Given the description of an element on the screen output the (x, y) to click on. 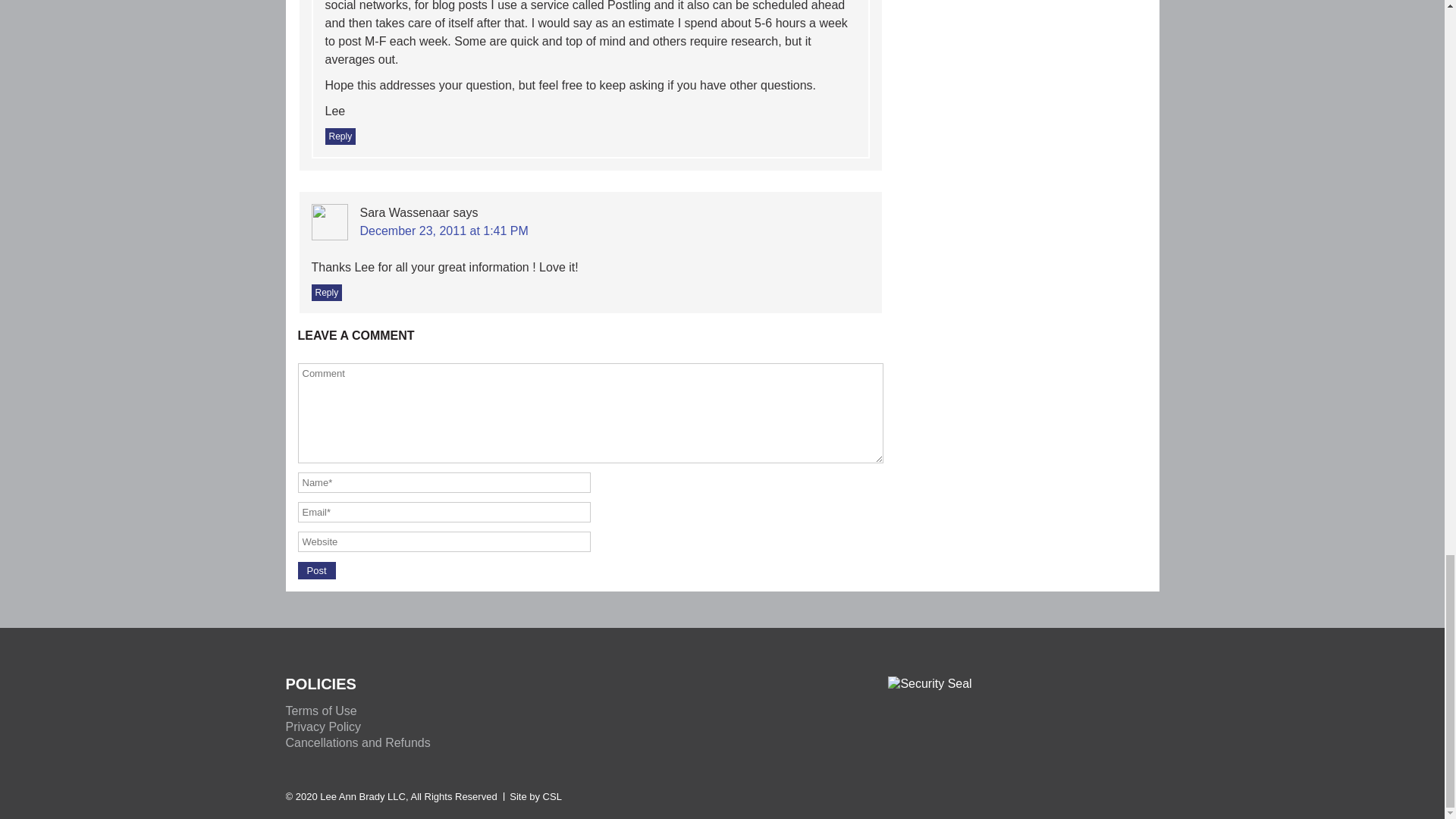
Reply (326, 292)
Cancellations and Refunds (357, 742)
Post (315, 570)
Terms of Use (320, 710)
Privacy Policy (323, 726)
Reply (339, 135)
Post (315, 570)
December 23, 2011 at 1:41 PM (443, 230)
